Given the description of an element on the screen output the (x, y) to click on. 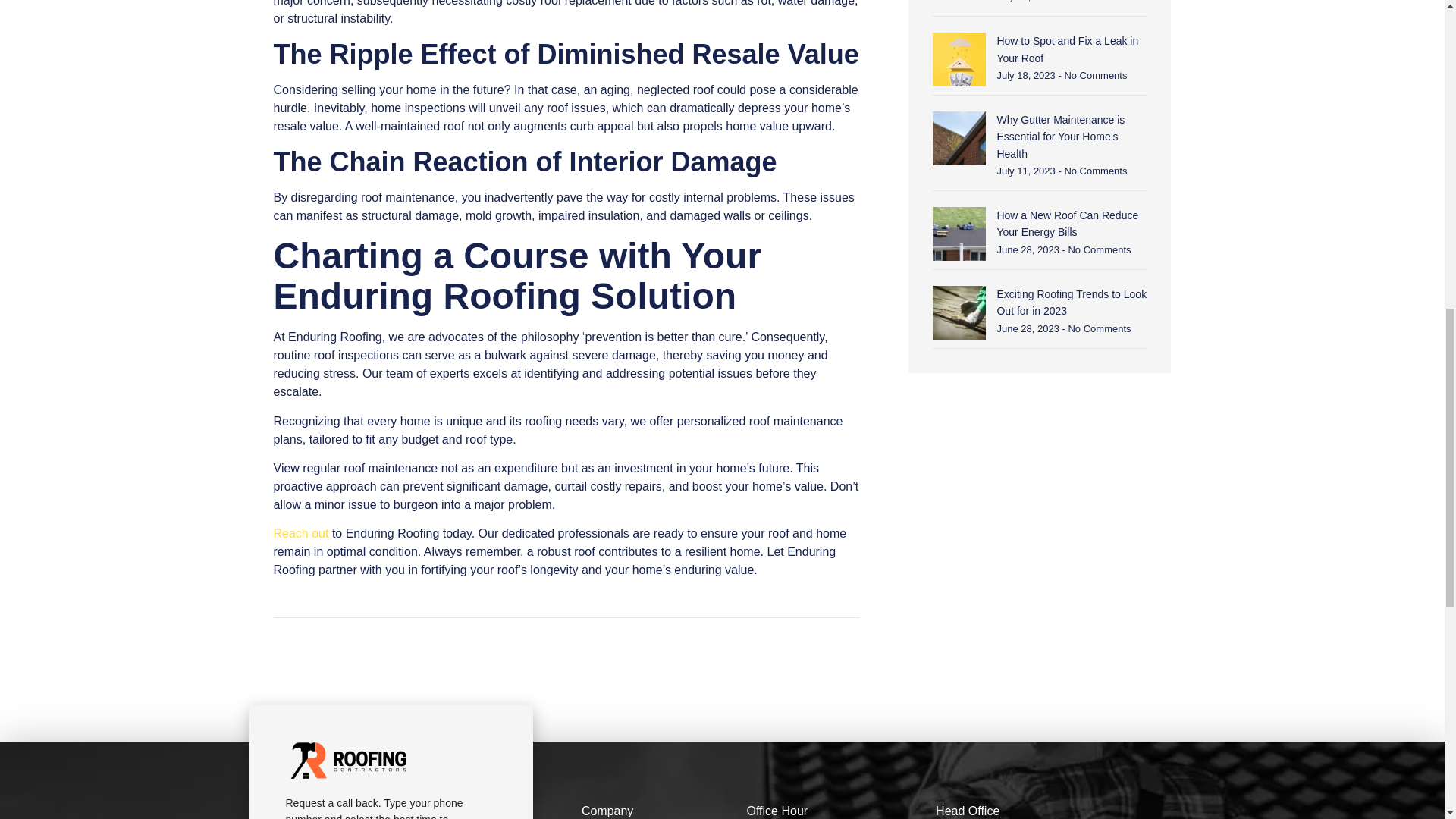
RC-Website (347, 760)
Reach out (301, 533)
How to Spot and Fix a Leak in Your Roof (1066, 49)
